Given the description of an element on the screen output the (x, y) to click on. 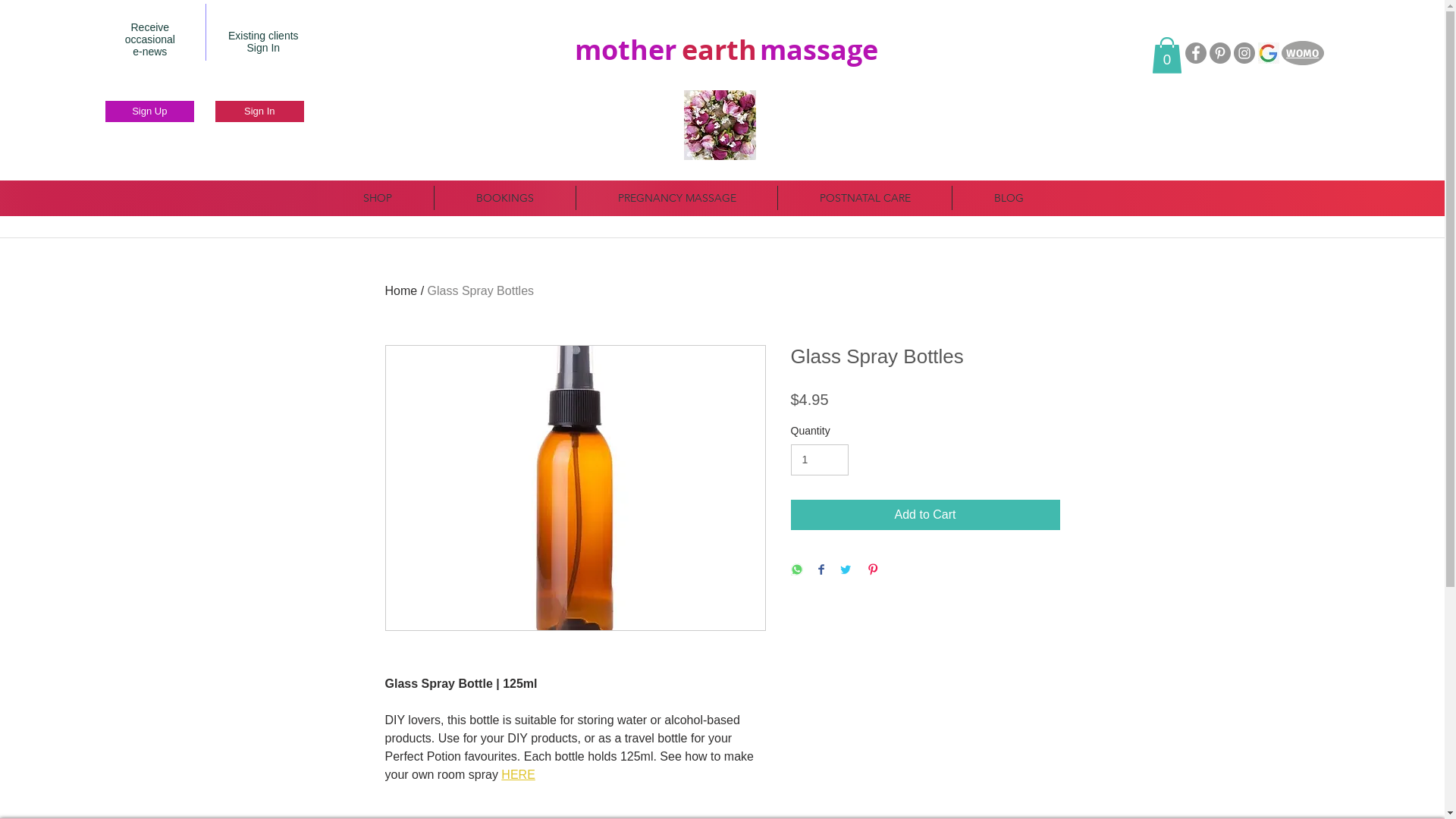
Add to Cart Element type: text (924, 514)
mo Element type: text (596, 48)
Sign In Element type: text (259, 111)
earth Element type: text (718, 48)
PREGNANCY MASSAGE Element type: text (676, 197)
SHOP Element type: text (377, 197)
ther Element type: text (647, 48)
massage Element type: text (818, 48)
Sign Up Element type: text (149, 111)
Glass Spray Bottles Element type: text (480, 290)
0 Element type: text (1166, 55)
Home Element type: text (401, 290)
BLOG Element type: text (1008, 197)
WOMO Element type: text (1302, 53)
HERE Element type: text (517, 774)
